Given the description of an element on the screen output the (x, y) to click on. 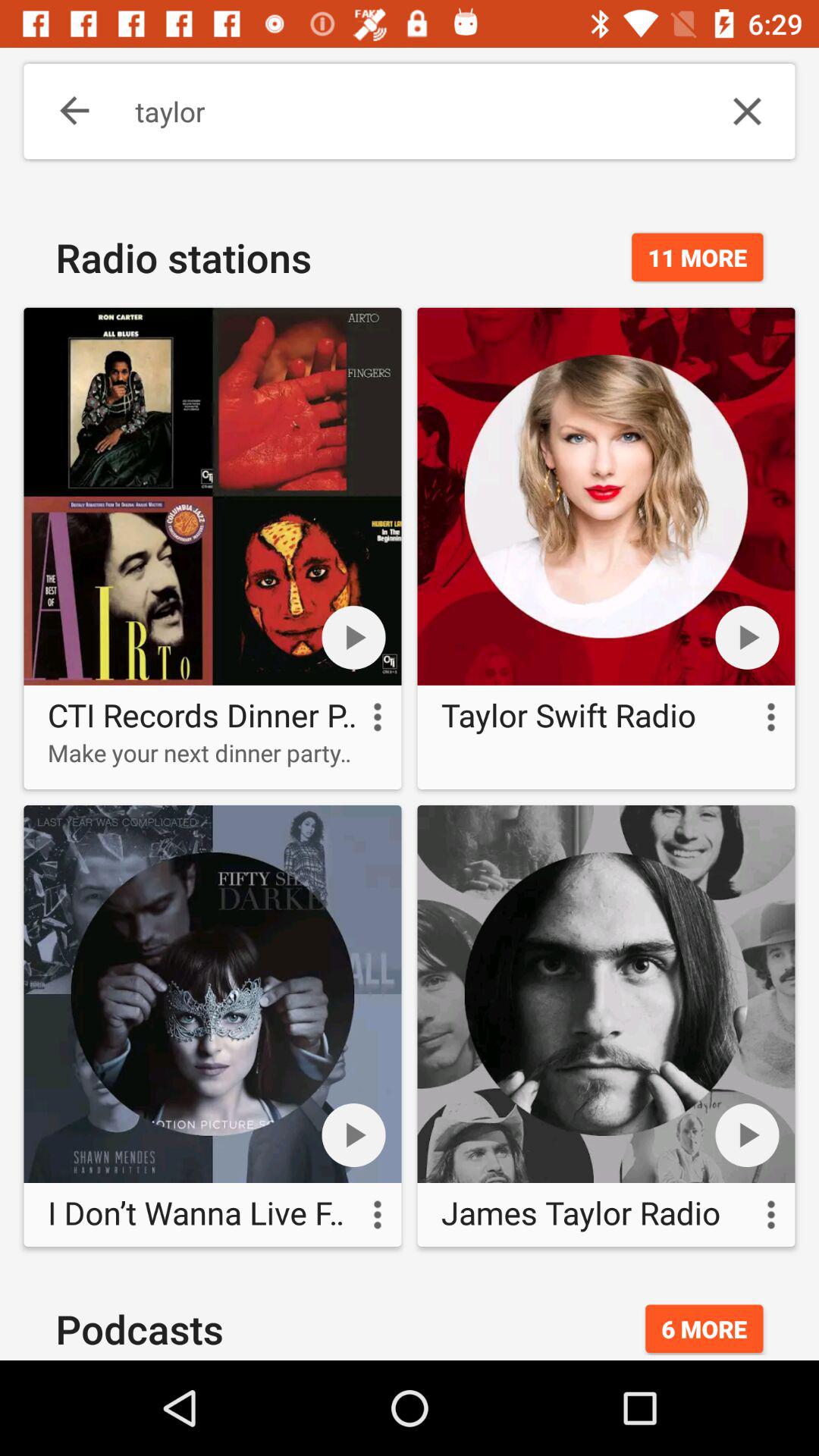
choose item to the right of the podcasts item (704, 1328)
